Given the description of an element on the screen output the (x, y) to click on. 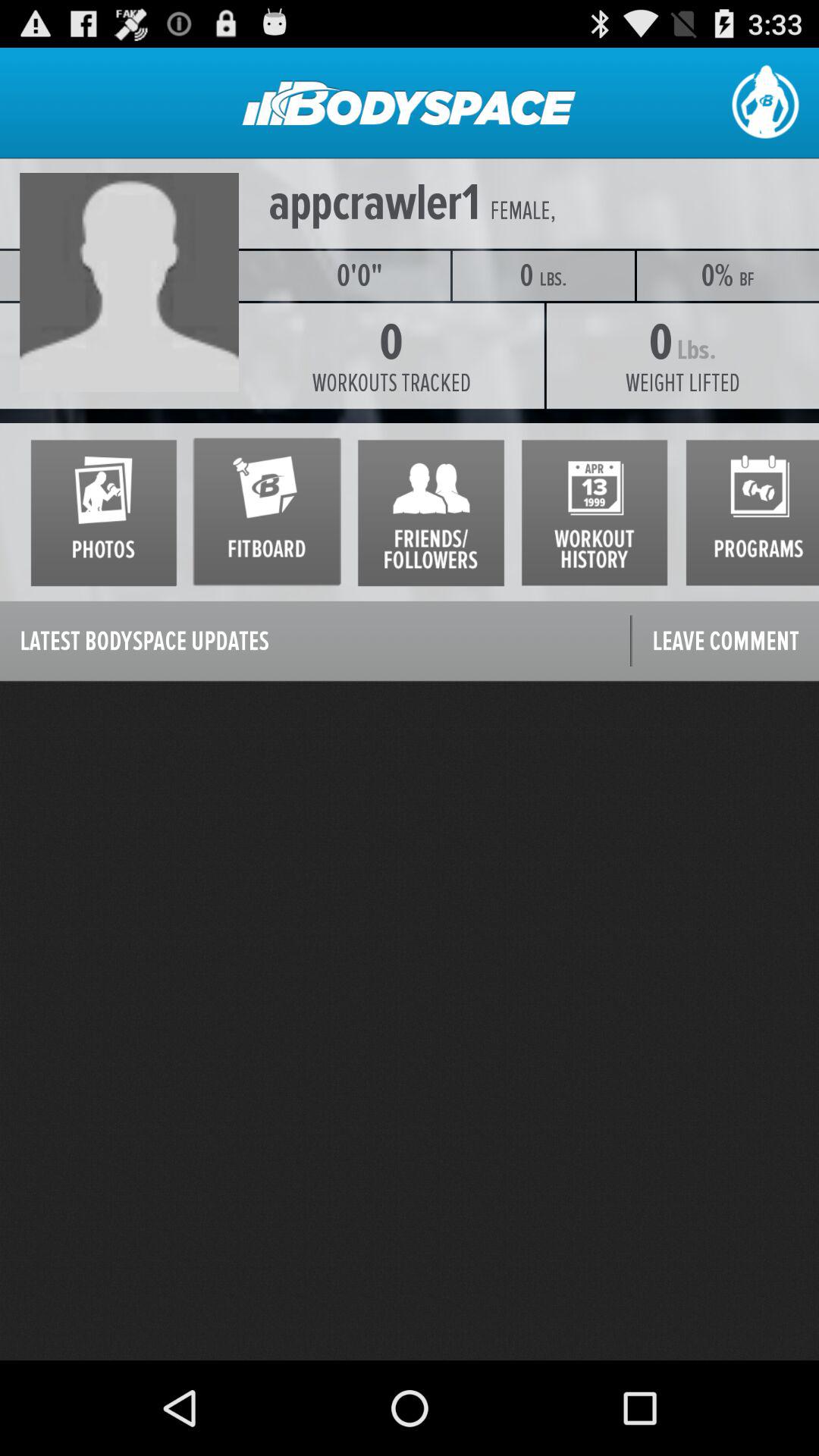
turn on icon above the weight lifted (746, 279)
